Given the description of an element on the screen output the (x, y) to click on. 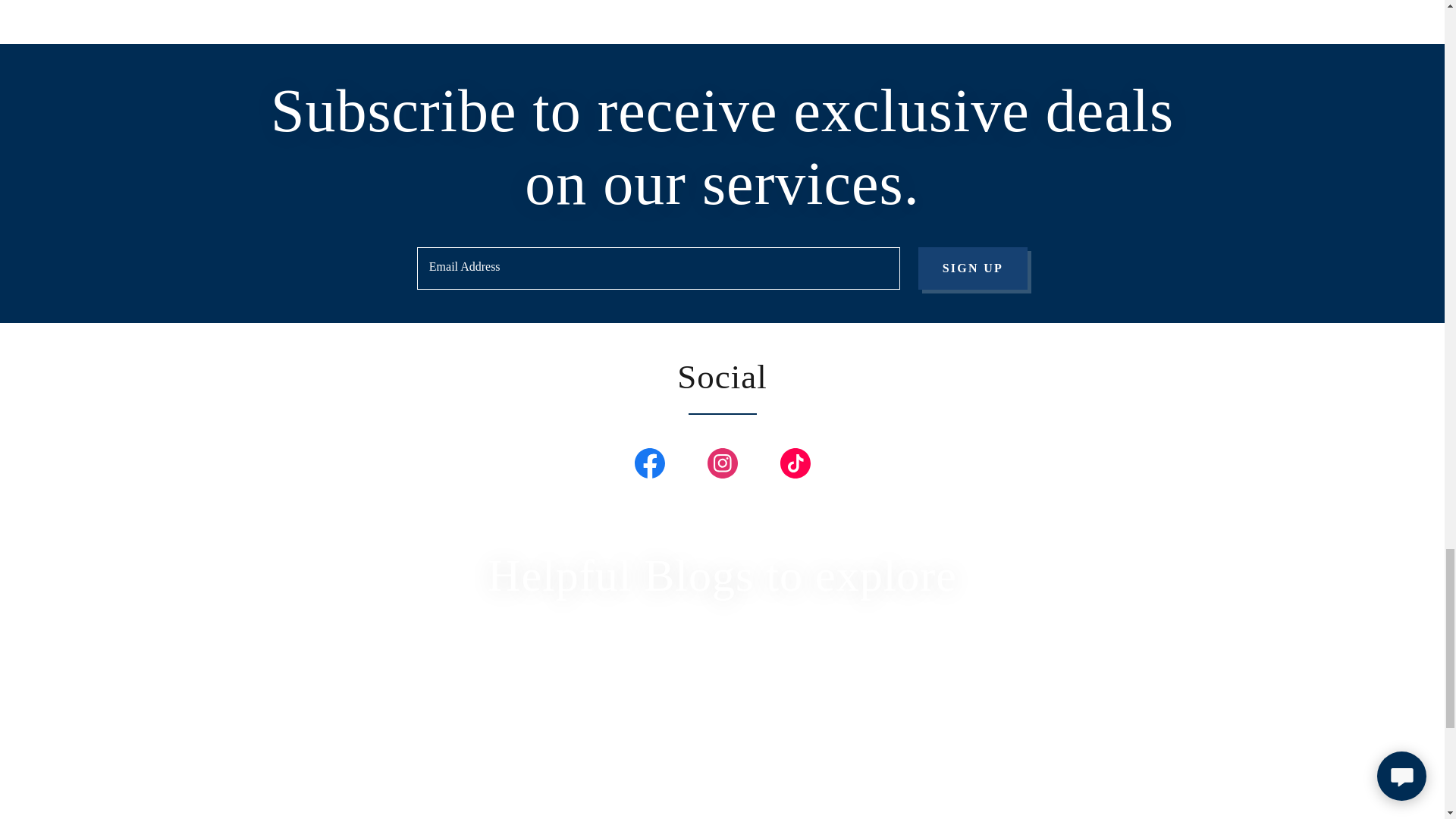
SIGN UP (972, 268)
